Given the description of an element on the screen output the (x, y) to click on. 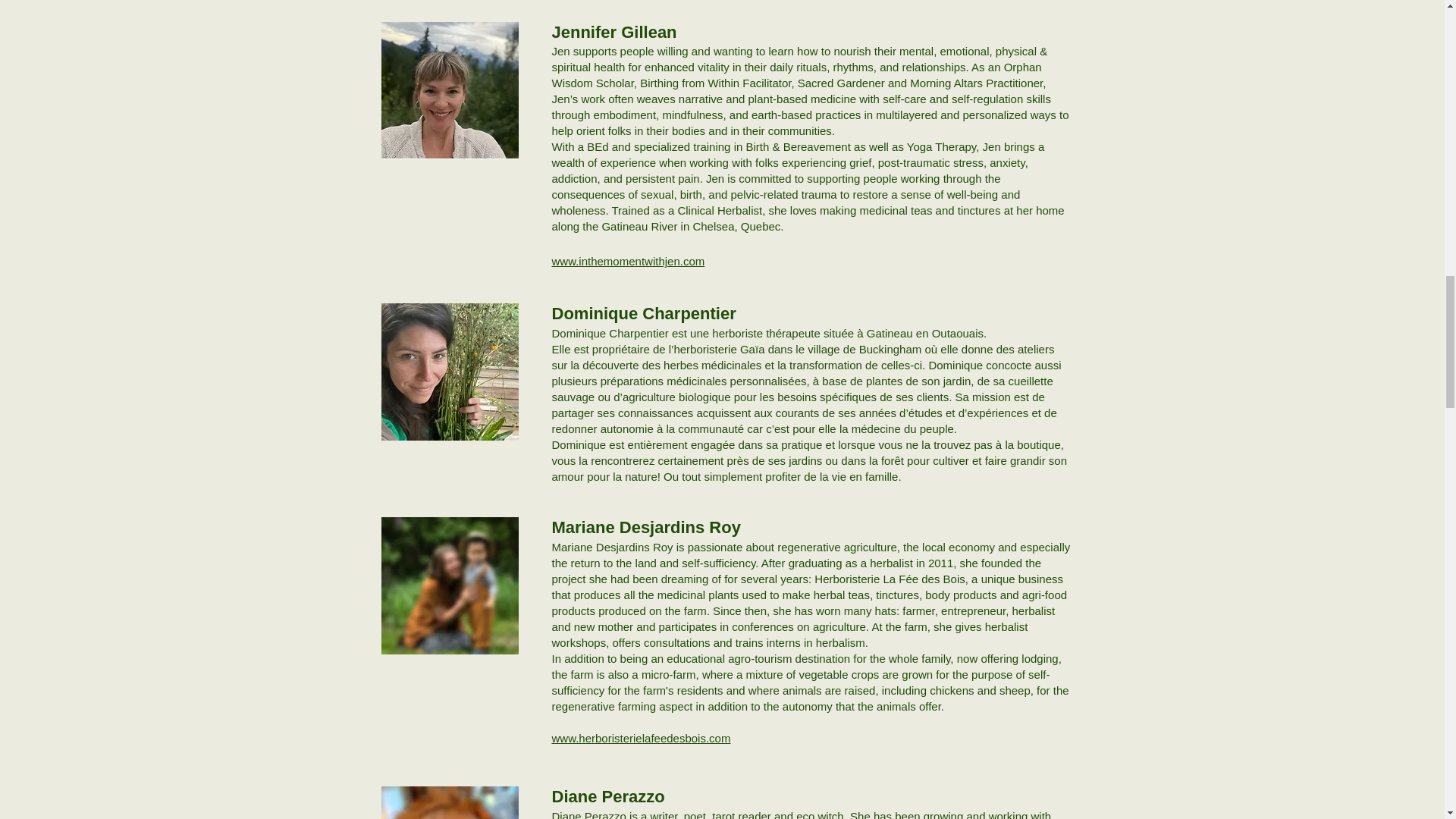
Abrah-portrait-2.jpeg (449, 802)
Abrah-portrait-2.jpeg (449, 371)
www.herboristerielafeedesbois.com (640, 738)
Abrah-portrait-2.jpeg (449, 90)
www.inthemomentwithjen.com (627, 260)
Abrah-portrait-2.jpeg (449, 585)
